Given the description of an element on the screen output the (x, y) to click on. 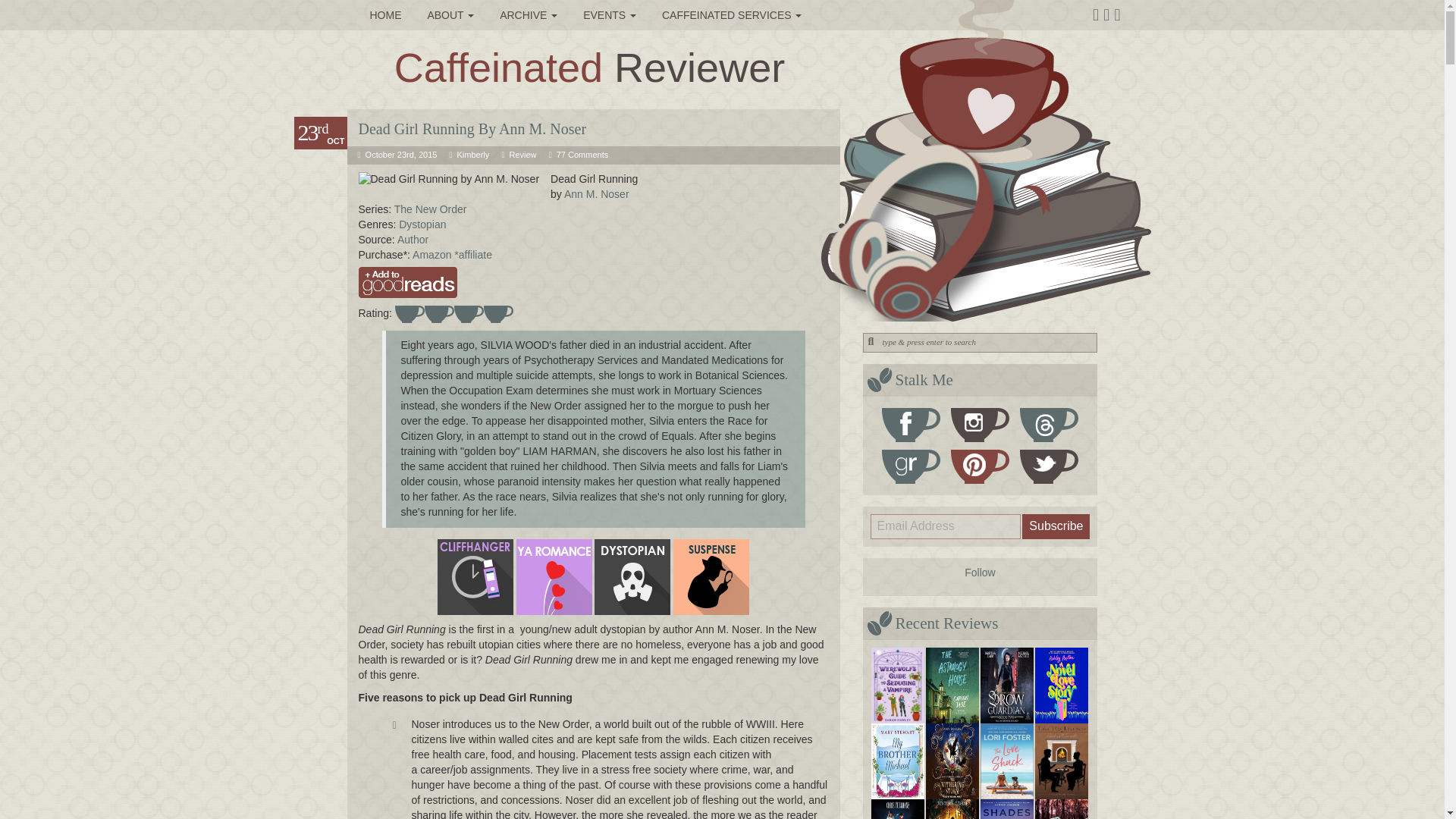
Author (412, 239)
Caffeinated Reviewer (589, 67)
The New Order (430, 209)
77 Comments (582, 153)
Amazon (433, 254)
Review (521, 153)
Please fill in this field. (946, 526)
Kimberly (473, 153)
EVENTS (609, 15)
HOME (385, 15)
